Given the description of an element on the screen output the (x, y) to click on. 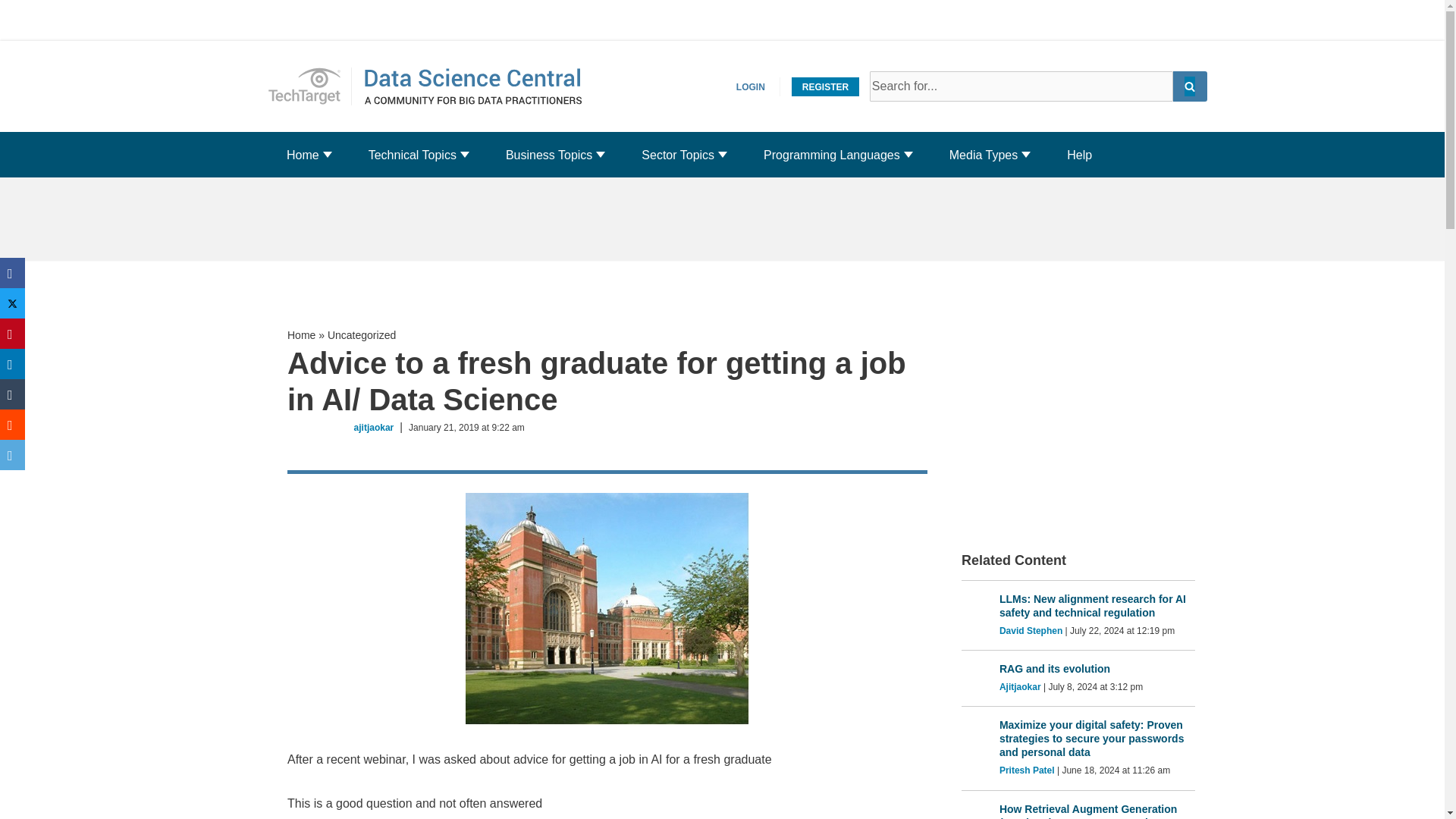
Home (302, 154)
Business Topics (548, 154)
LOGIN (750, 86)
Technical Topics (412, 154)
REGISTER (825, 86)
RAG and its evolution (1096, 668)
Posts by ajitjaokar (373, 427)
Skip to content (309, 86)
